Given the description of an element on the screen output the (x, y) to click on. 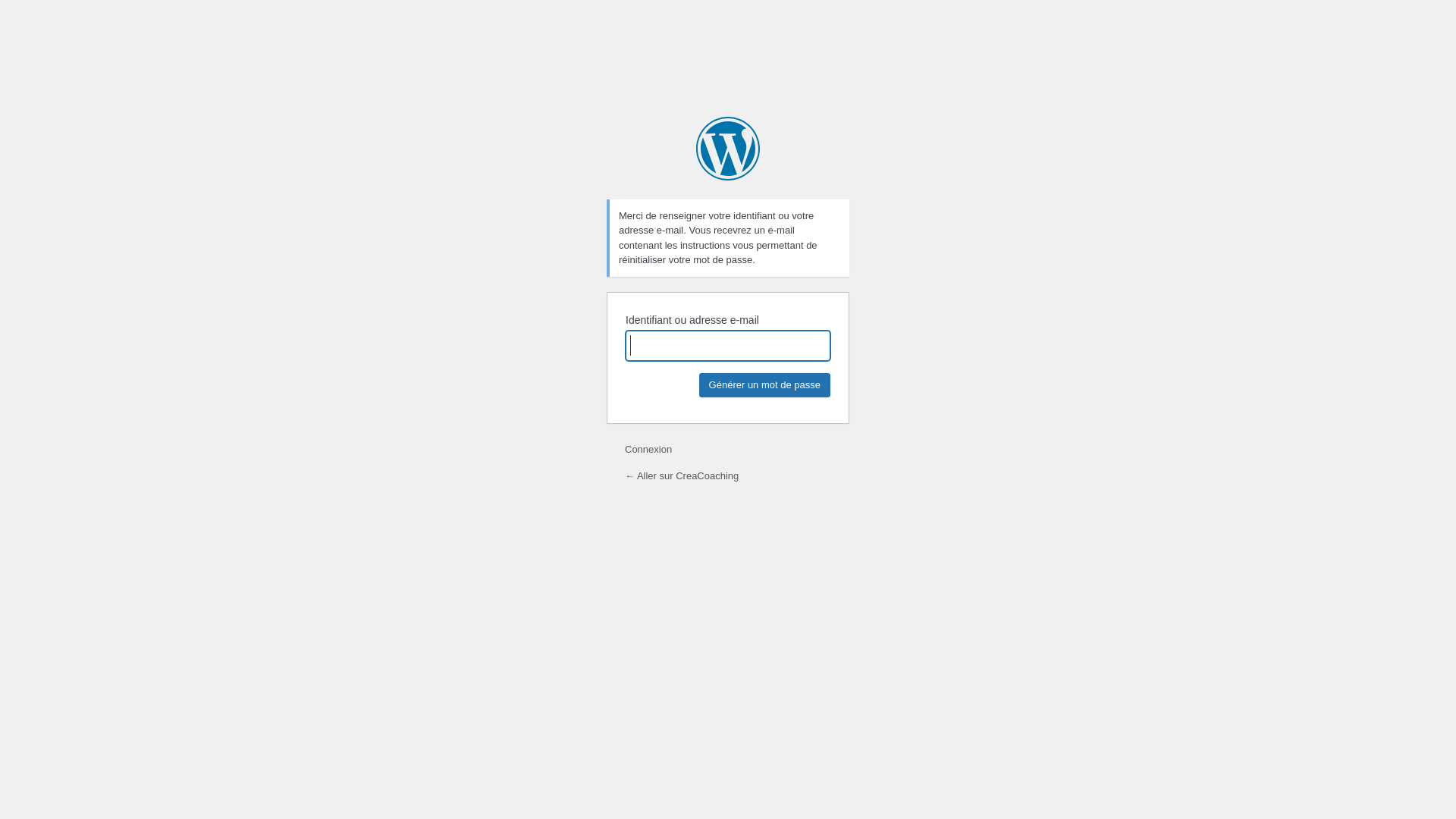
Connexion Element type: text (647, 449)
